Given the description of an element on the screen output the (x, y) to click on. 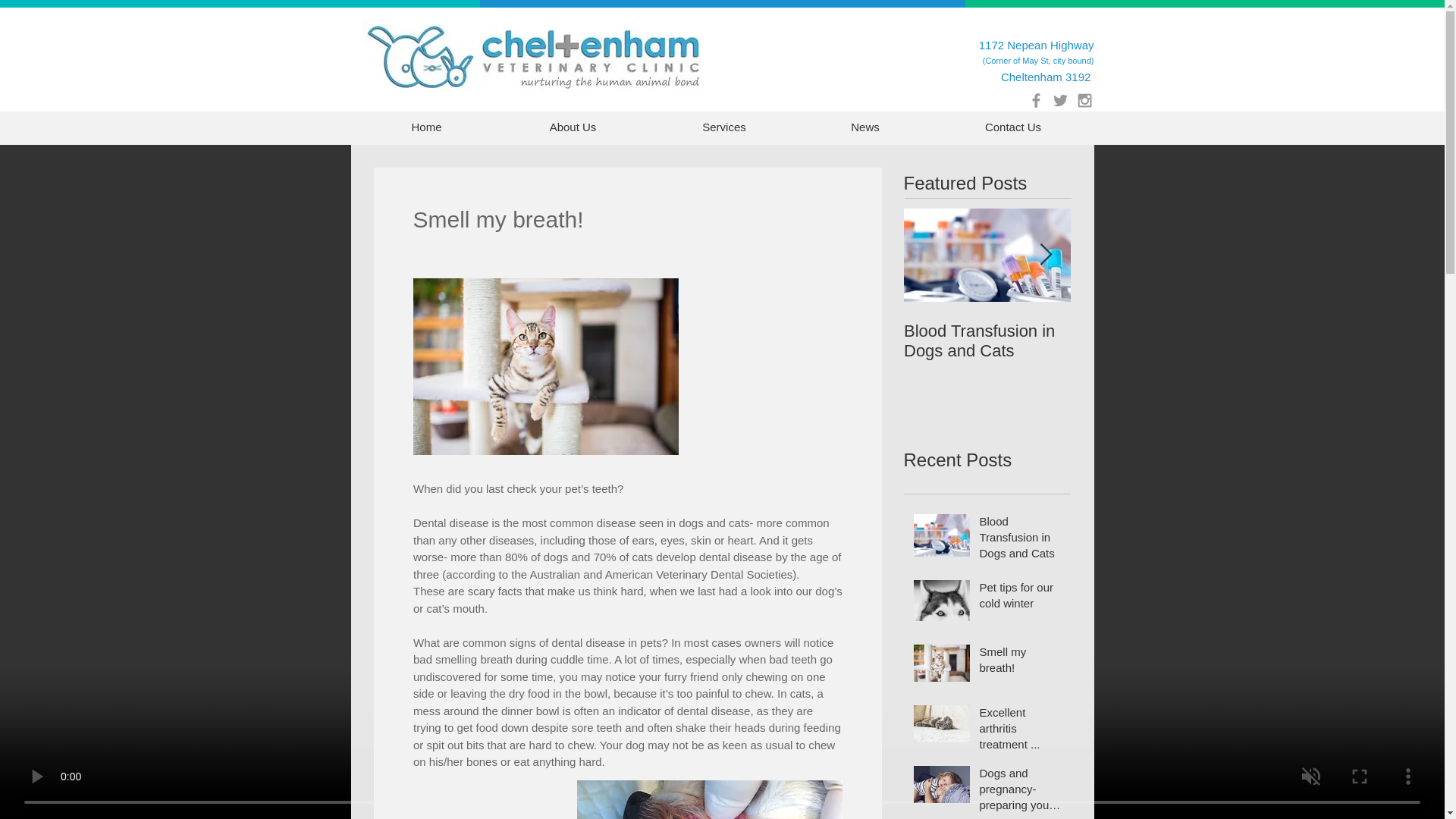
Home (427, 126)
Blood Transfusion in Dogs and Cats (1020, 540)
Blood Transfusion in Dogs and Cats (987, 341)
Services (723, 126)
Pet tips for our cold winter (1020, 598)
Contact Us (1013, 126)
Smell my breath! (1020, 662)
Excellent arthritis treatment ... (1020, 731)
About Us (573, 126)
Pet tips for our cold winter (1153, 341)
